Given the description of an element on the screen output the (x, y) to click on. 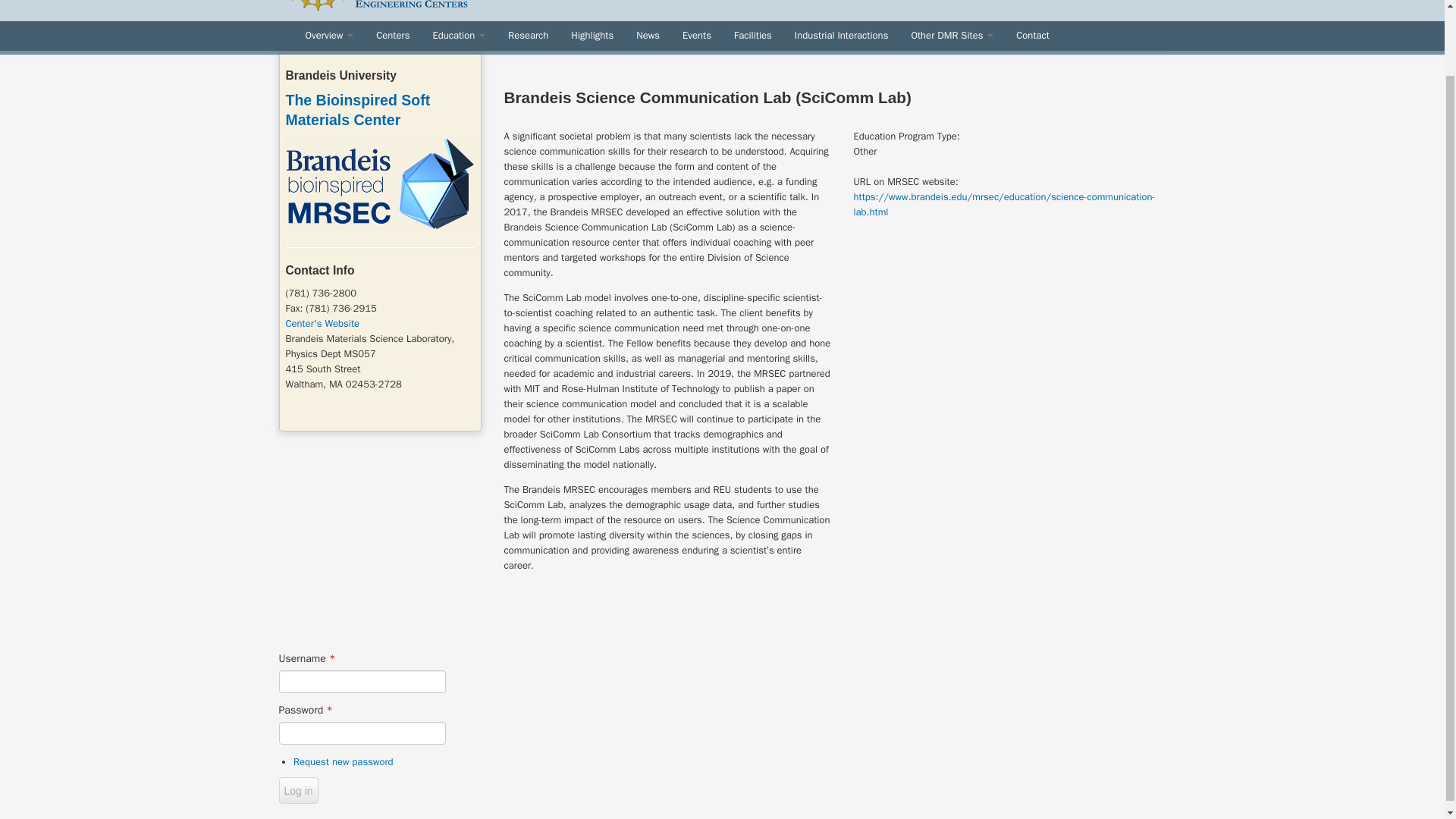
The Bioinspired Soft Materials Center (357, 109)
Contact (1032, 35)
Industrial Interactions (841, 35)
Other DMR Sites (951, 35)
Center's Website (322, 323)
Events (696, 35)
Highlights (591, 35)
Overview (329, 35)
Education (458, 35)
Facilities (752, 35)
Log in (298, 790)
Log in (298, 790)
Centers (392, 35)
Research (527, 35)
Request new password (343, 761)
